Given the description of an element on the screen output the (x, y) to click on. 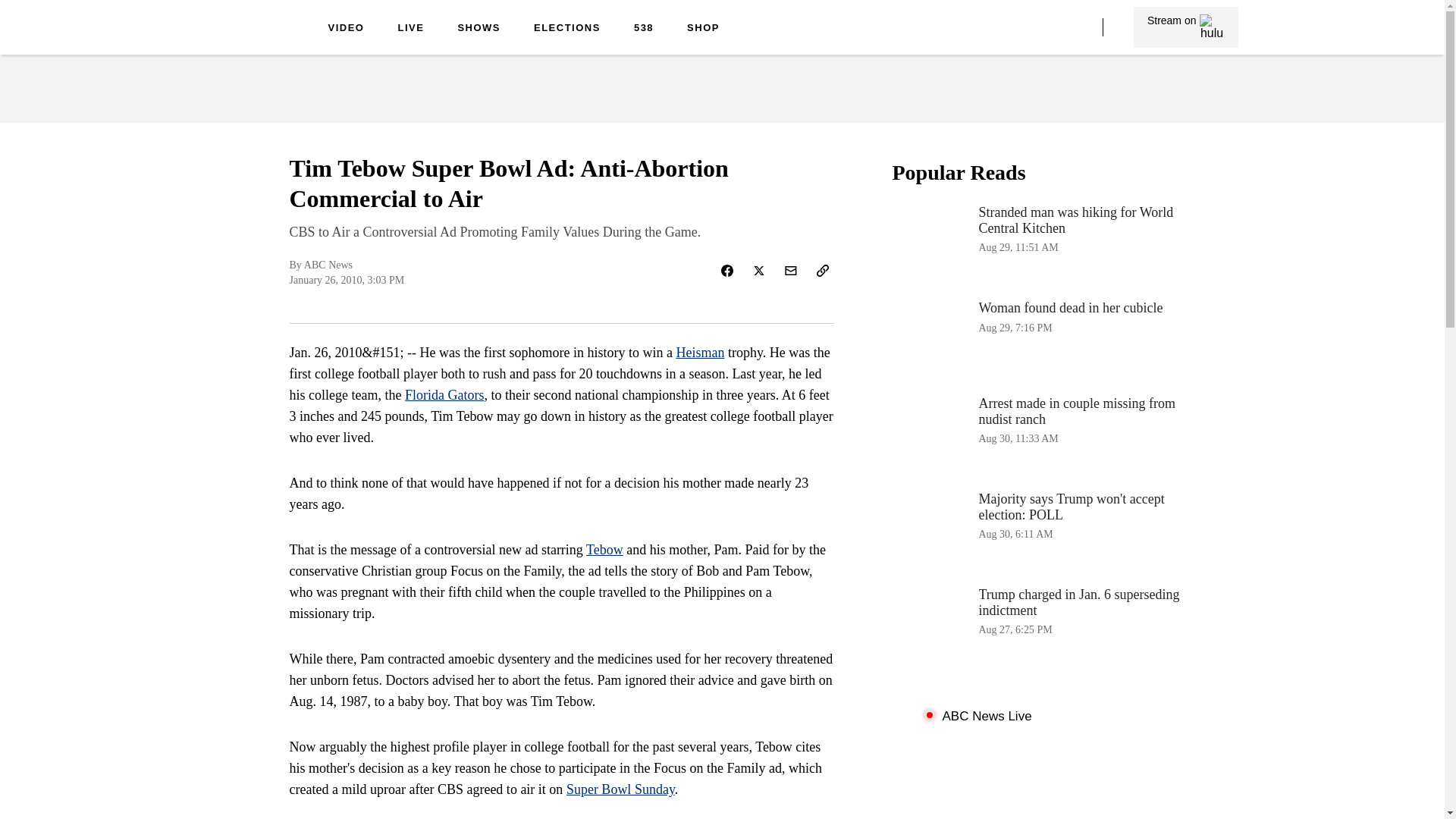
Tebow (604, 549)
Florida Gators (443, 394)
SHOP (703, 28)
ABC News (1043, 338)
SHOWS (250, 38)
Super Bowl Sunday (478, 28)
